Given the description of an element on the screen output the (x, y) to click on. 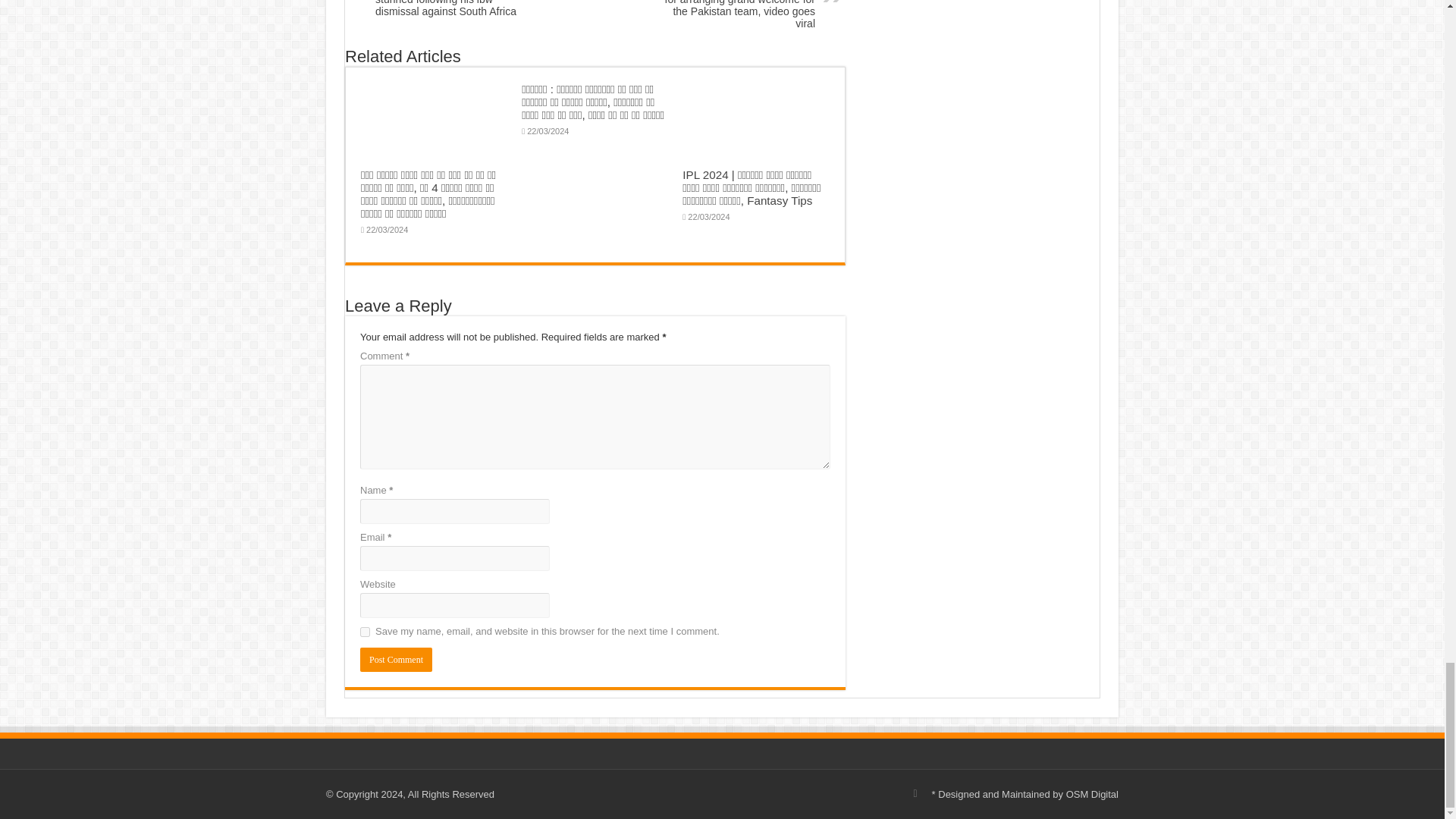
OSM Digital (1091, 794)
yes (364, 632)
Post Comment (395, 659)
Post Comment (395, 659)
